Given the description of an element on the screen output the (x, y) to click on. 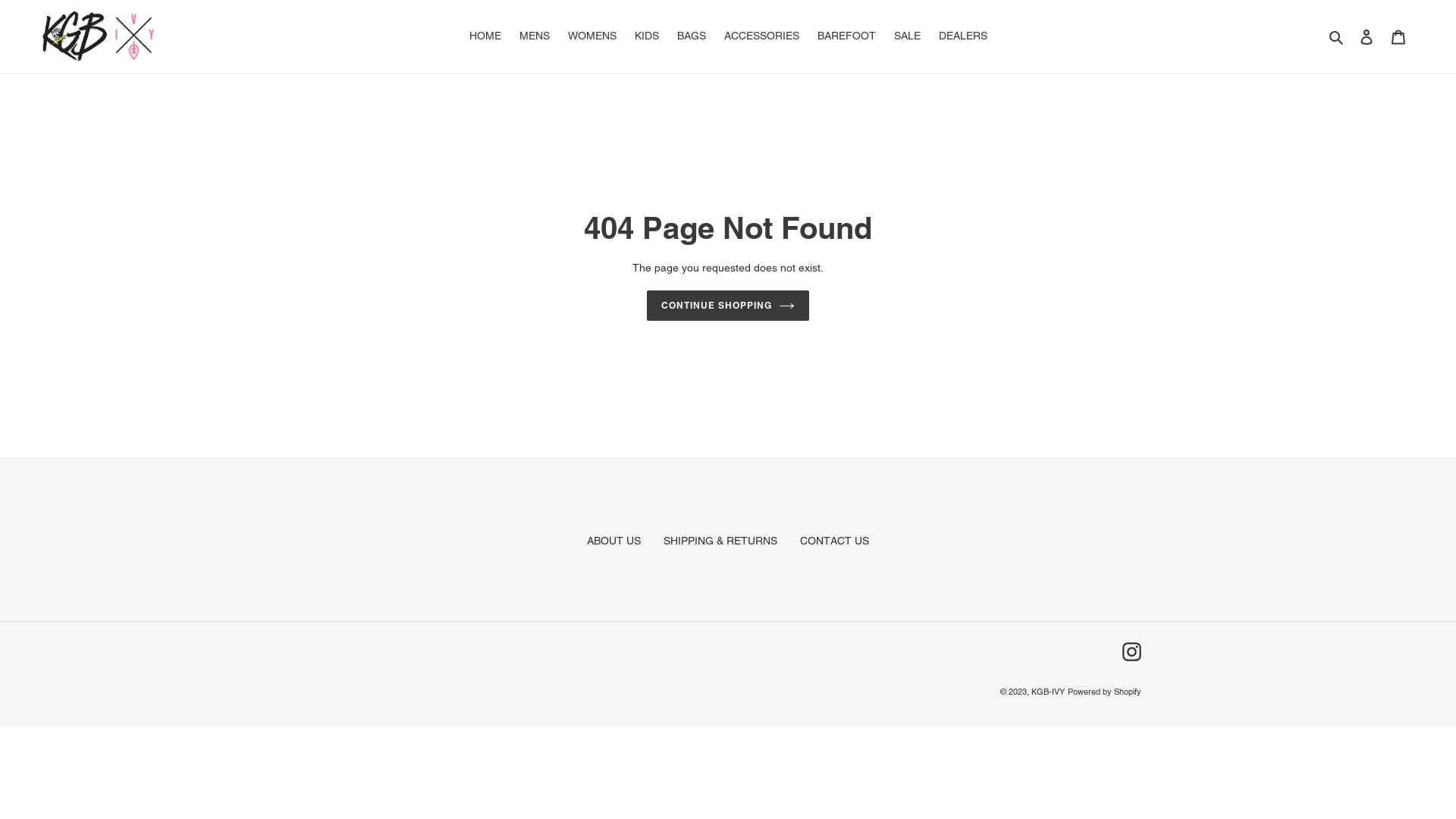
WOMENS Element type: text (591, 35)
ABOUT US Element type: text (613, 540)
ACCESSORIES Element type: text (760, 35)
Instagram Element type: text (1131, 651)
SALE Element type: text (906, 35)
CONTINUE SHOPPING Element type: text (727, 305)
Search Element type: text (1337, 35)
HOME Element type: text (484, 35)
CONTACT US Element type: text (834, 540)
KIDS Element type: text (645, 35)
Log in Element type: text (1366, 35)
BAGS Element type: text (690, 35)
BAREFOOT Element type: text (846, 35)
SHIPPING & RETURNS Element type: text (720, 540)
DEALERS Element type: text (962, 35)
Cart Element type: text (1398, 35)
Powered by Shopify Element type: text (1104, 691)
MENS Element type: text (533, 35)
KGB-IVY Element type: text (1047, 691)
